Given the description of an element on the screen output the (x, y) to click on. 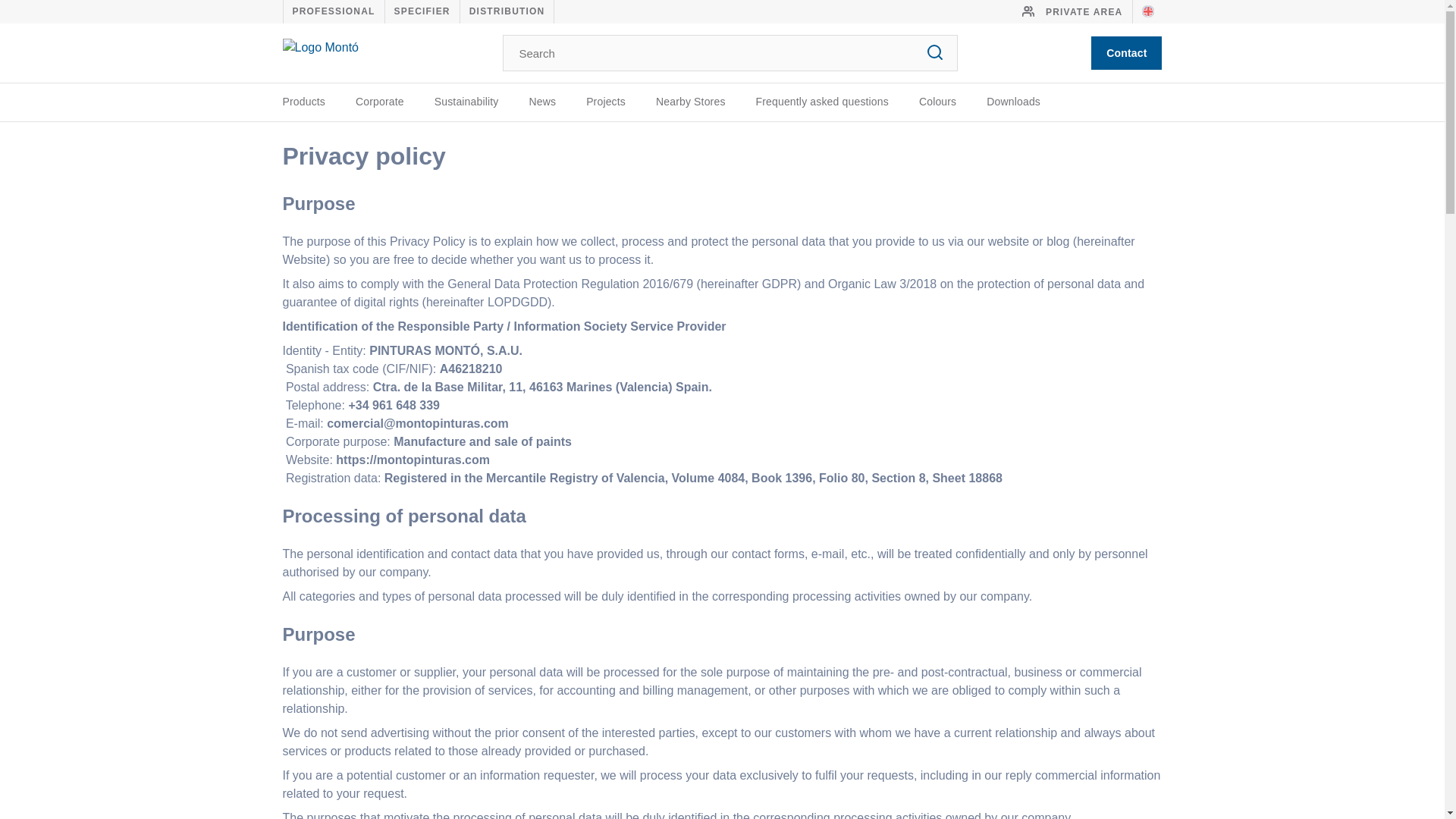
Contact (1125, 52)
SPECIFIER (422, 11)
PROFESSIONAL (333, 11)
Projects (606, 102)
PRIVATE AREA (1072, 11)
Corporate (379, 102)
Sustainability (466, 102)
Products (303, 102)
DISTRIBUTION (507, 11)
